Given the description of an element on the screen output the (x, y) to click on. 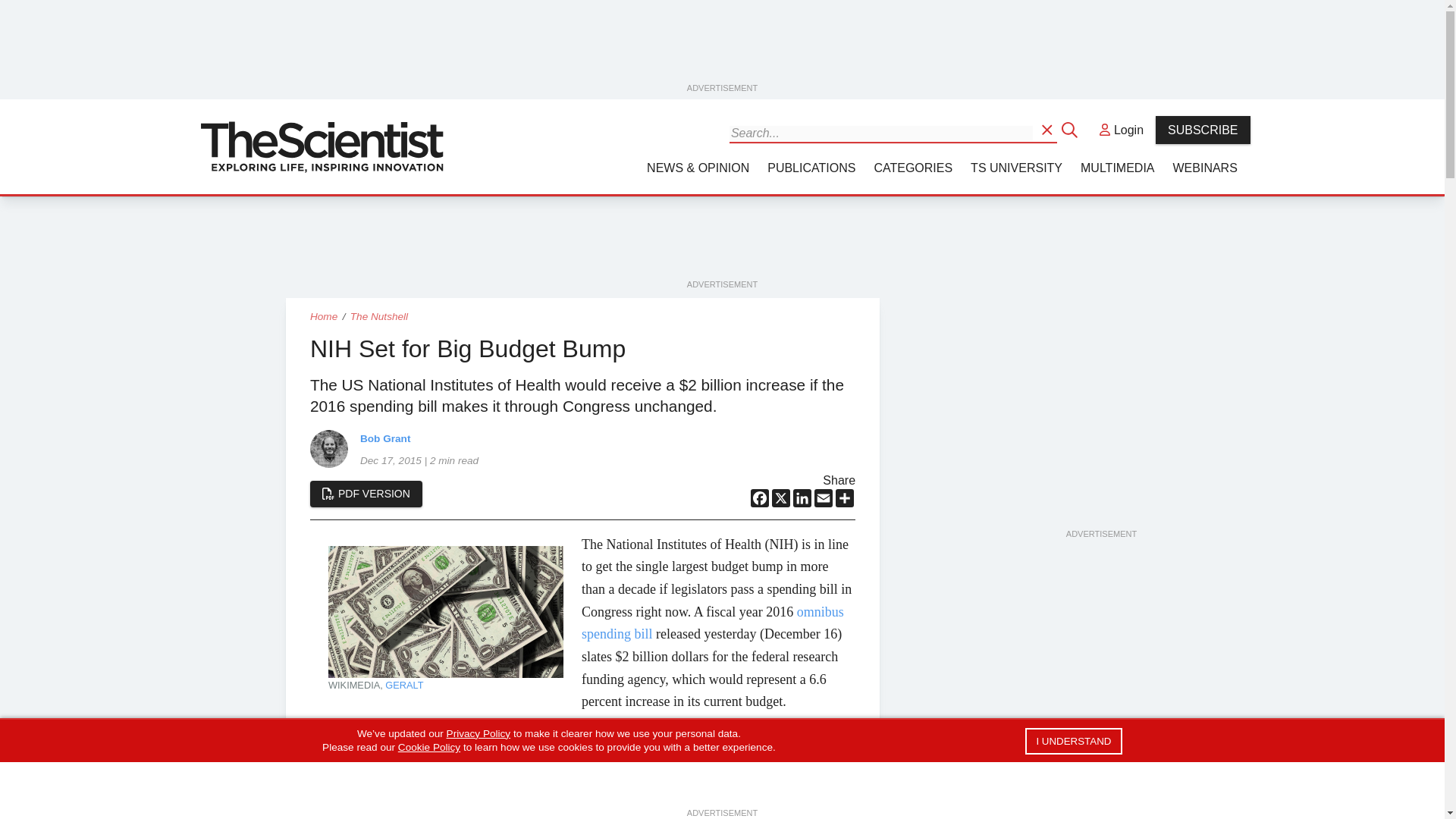
Bob Grant (328, 447)
3rd party ad content (722, 242)
Open Search (1049, 129)
3rd party ad content (1100, 717)
Close Search (1071, 129)
3rd party ad content (722, 46)
3rd party ad content (1100, 432)
